Given the description of an element on the screen output the (x, y) to click on. 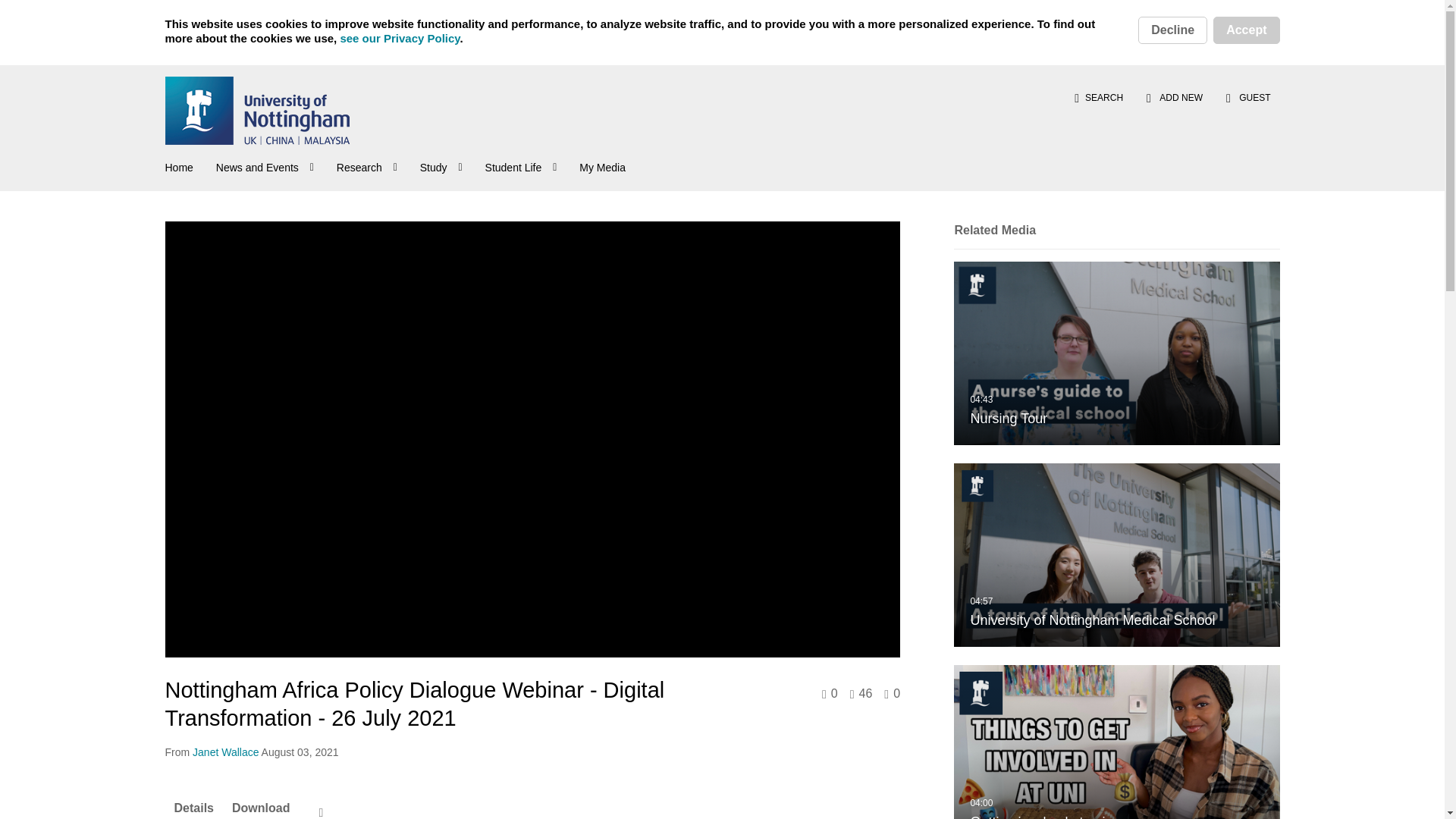
News and Events (266, 165)
Accept (1245, 30)
GUEST (1247, 97)
see our Privacy Policy (399, 38)
Decline (1172, 30)
Research (368, 165)
University of Nottingham Medical School (1116, 555)
Study (442, 165)
ADD NEW (1174, 97)
Getting involved at uni (1116, 742)
Home (179, 165)
Nursing Tour (1116, 353)
SEARCH (1098, 97)
